Given the description of an element on the screen output the (x, y) to click on. 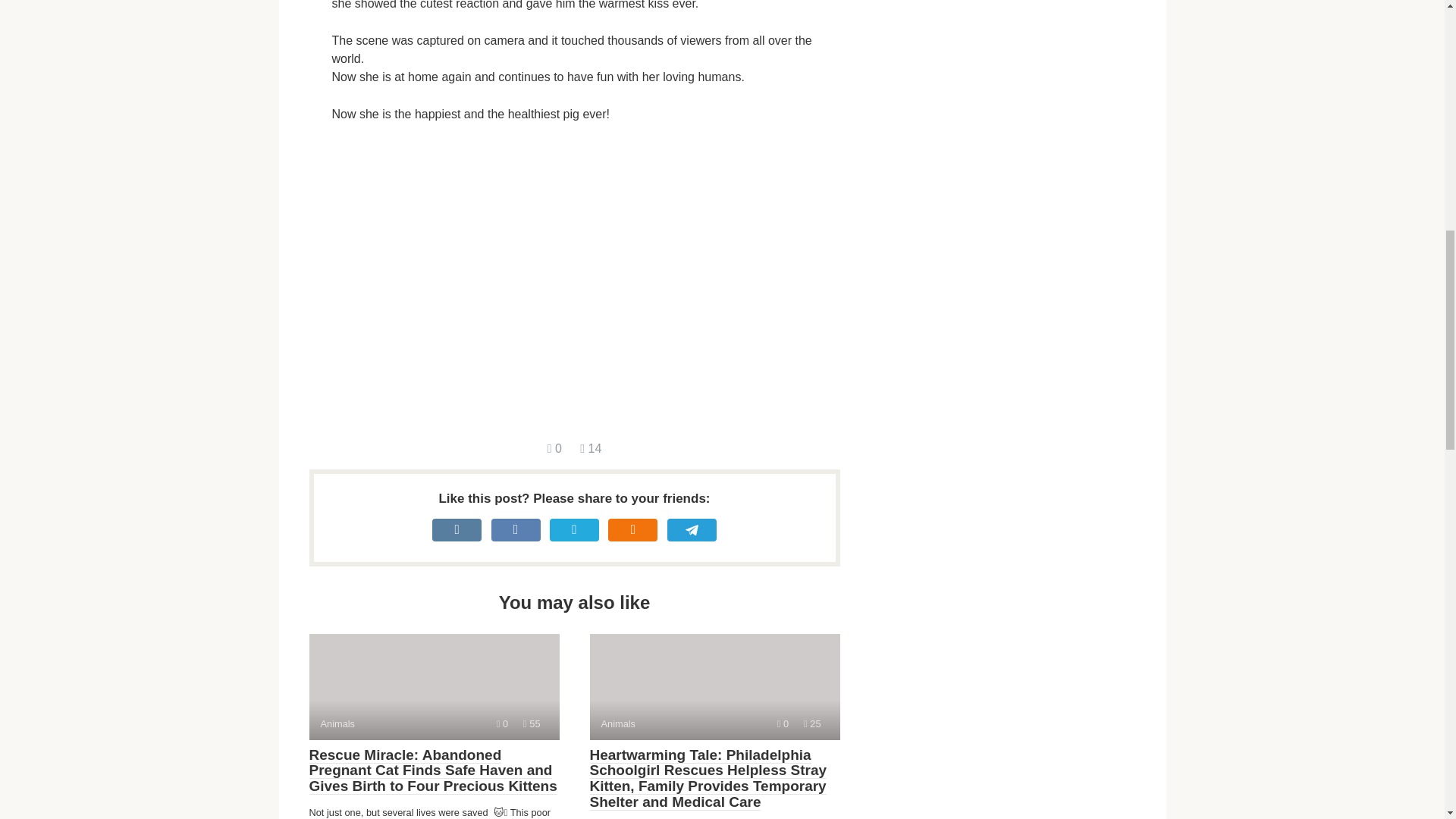
Views (714, 686)
Views (433, 686)
Comments (531, 723)
Comments (812, 723)
Views (502, 723)
Comments (783, 723)
